Given the description of an element on the screen output the (x, y) to click on. 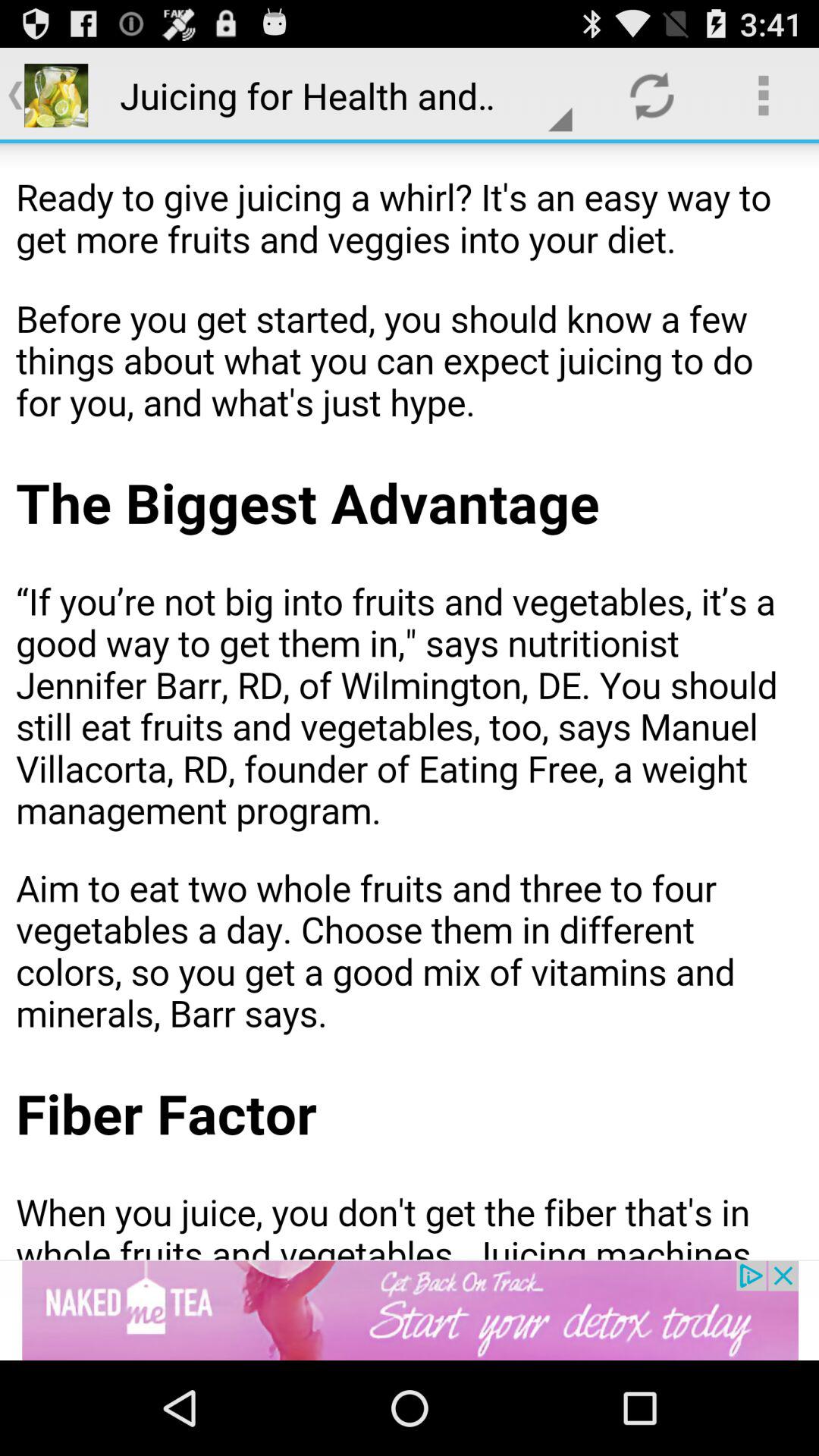
advertisement (409, 1310)
